Given the description of an element on the screen output the (x, y) to click on. 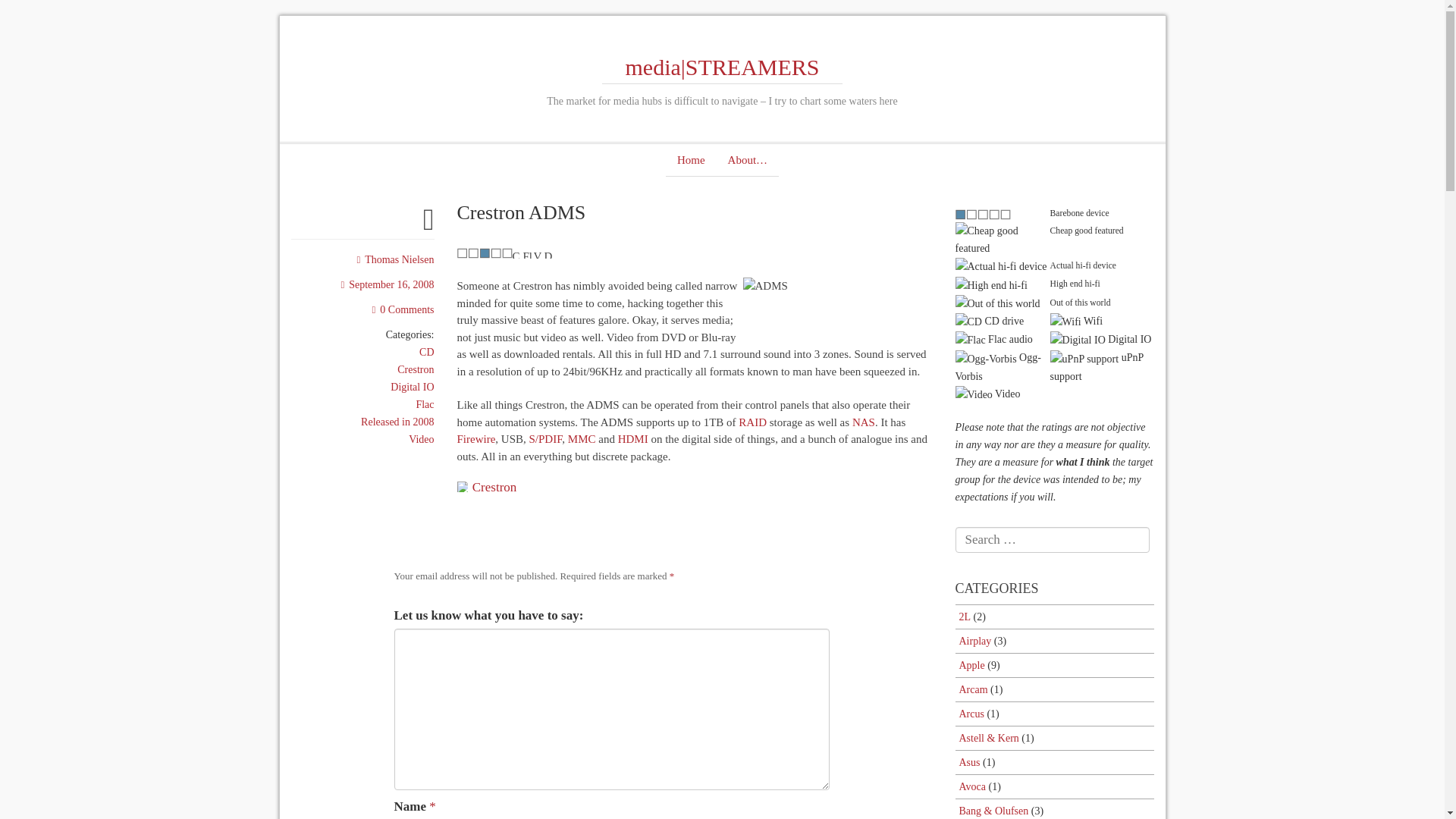
CD (517, 253)
Crestron (493, 486)
Apple (971, 665)
Digital IO (549, 253)
Actual Hi-fi Device (484, 253)
CD (426, 351)
MMC (581, 439)
Released in 2008 (397, 421)
Firewire on Wikipedia (476, 439)
Permalink to Crestron ADMS (428, 225)
